Given the description of an element on the screen output the (x, y) to click on. 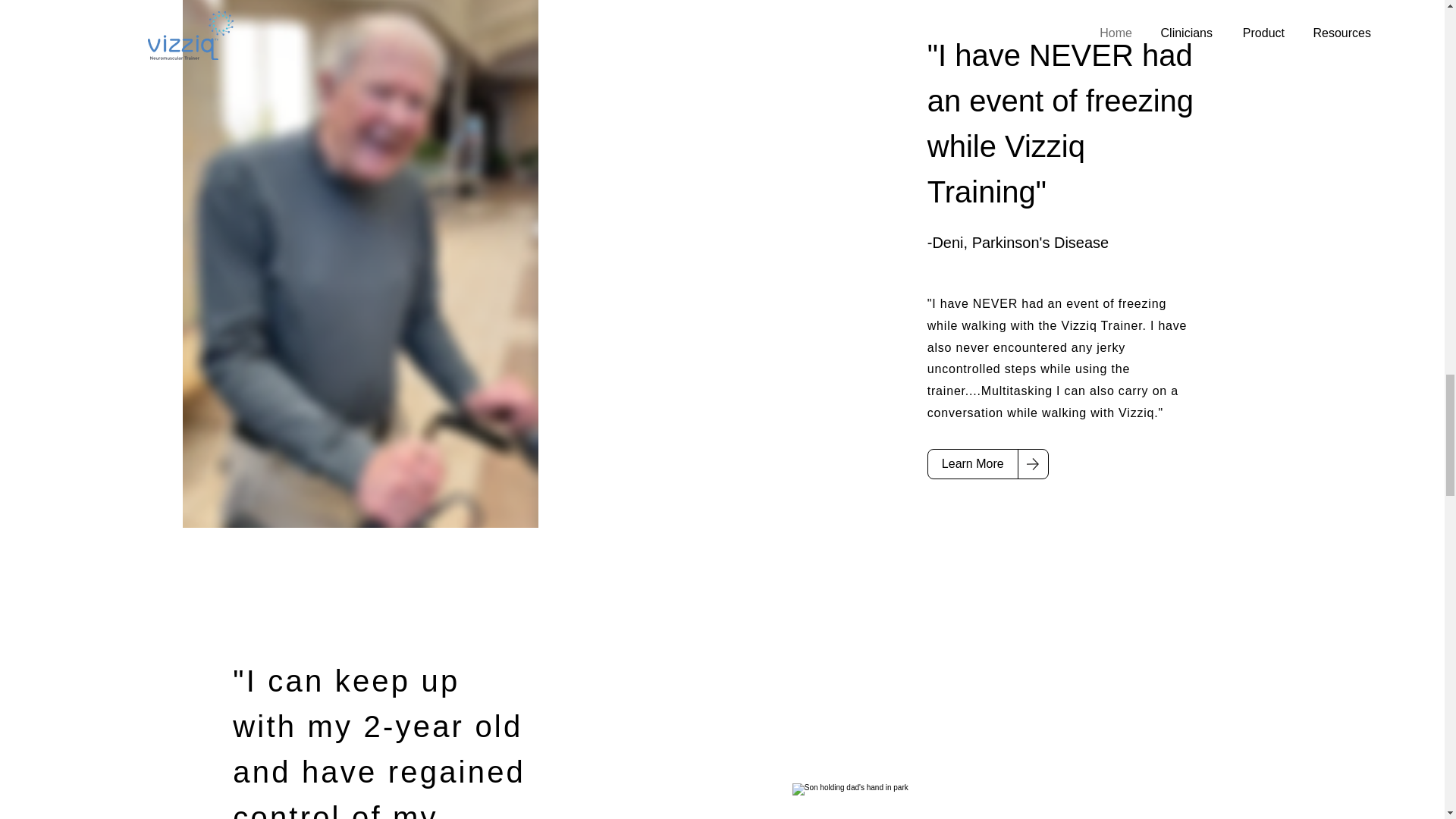
Learn More (972, 463)
